Given the description of an element on the screen output the (x, y) to click on. 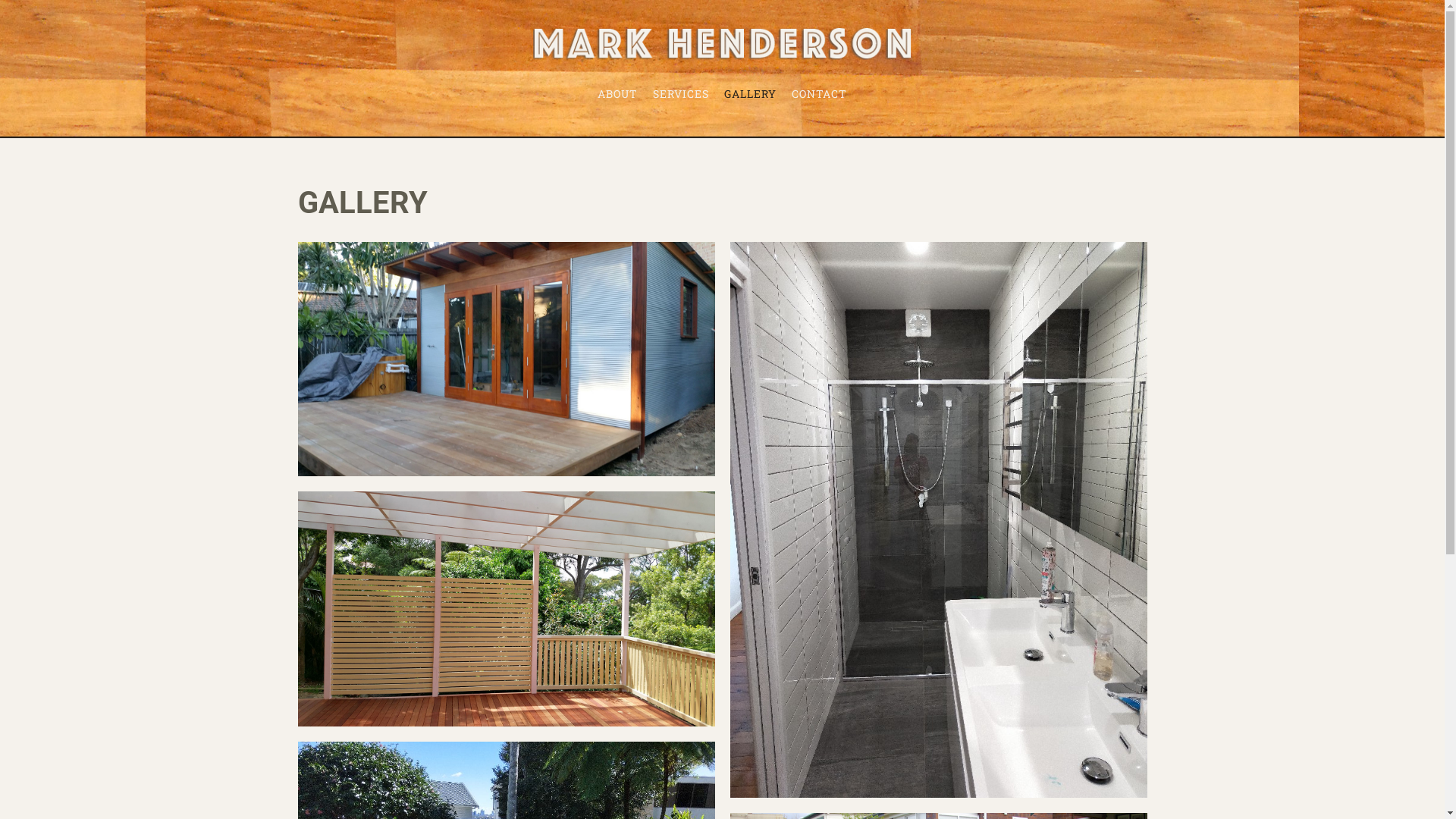
ABOUT Element type: text (617, 93)
SERVICES Element type: text (680, 93)
Bathroom makeover at St Ives Element type: hover (937, 519)
Pergola, privacy screen & deck at Frenchs Forest Element type: hover (505, 608)
Backyard studio at Freshwater Element type: hover (505, 358)
GALLERY Element type: text (750, 93)
CONTACT Element type: text (819, 93)
